Given the description of an element on the screen output the (x, y) to click on. 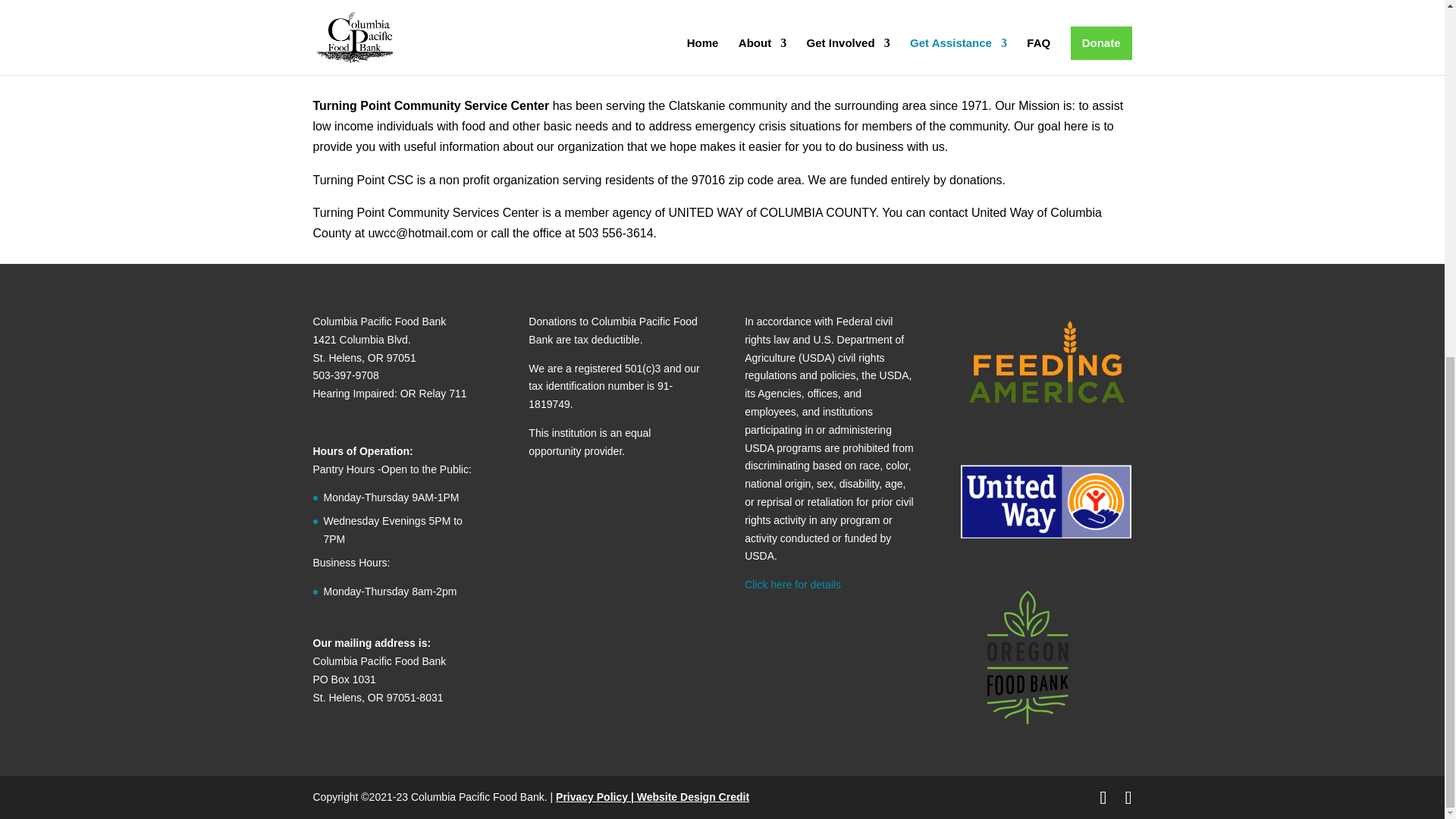
turning-point-community-center (462, 5)
